Given the description of an element on the screen output the (x, y) to click on. 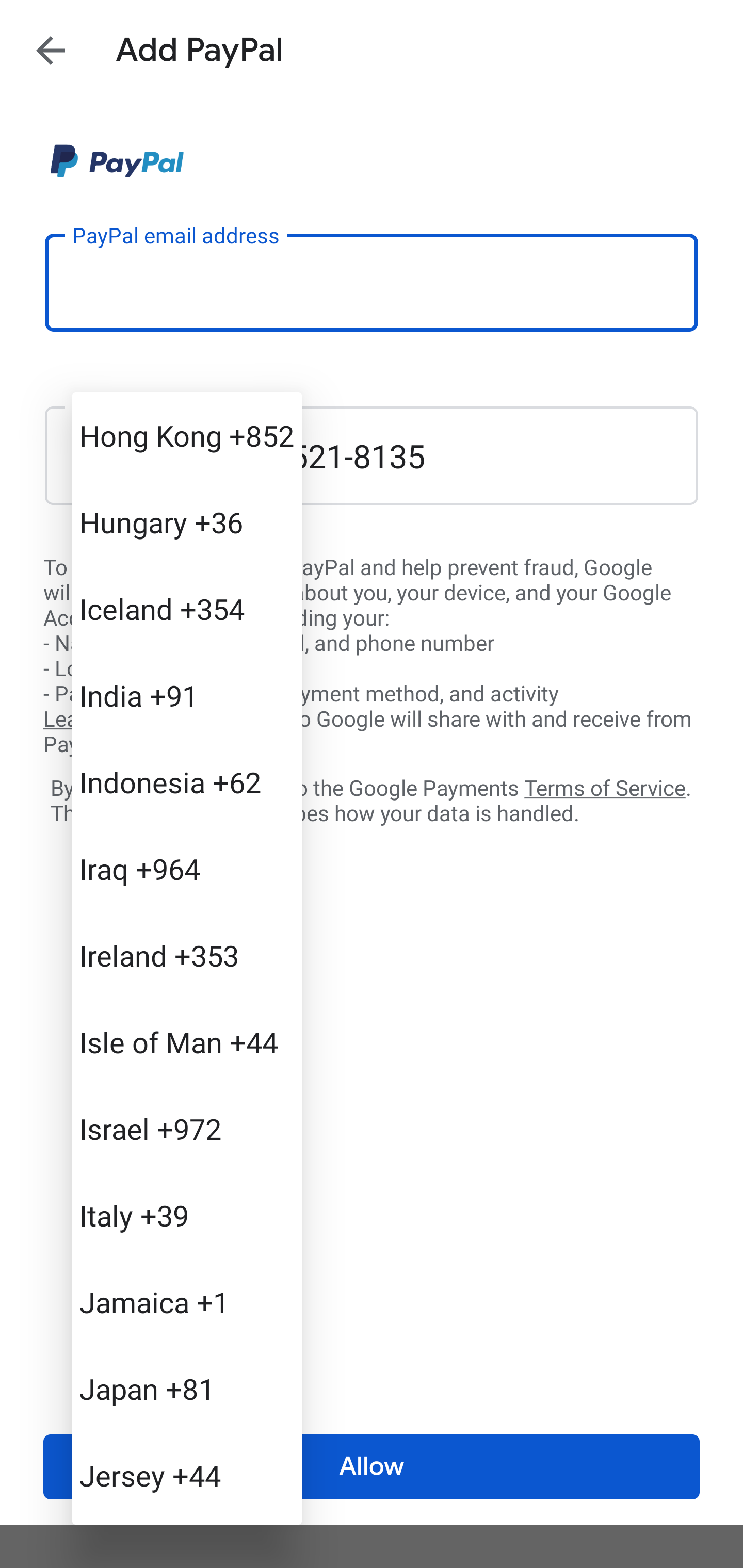
Hong Kong +852 (186, 435)
Hungary +36 (186, 522)
Iceland +354 (186, 609)
India +91 (186, 695)
Indonesia +62 (186, 781)
Iraq +964 (186, 868)
Ireland +353 (186, 955)
Isle of Man +44 (186, 1041)
Israel +972 (186, 1128)
Italy +39 (186, 1215)
Jamaica +1 (186, 1302)
Japan +81 (186, 1388)
Jersey +44 (186, 1474)
